Given the description of an element on the screen output the (x, y) to click on. 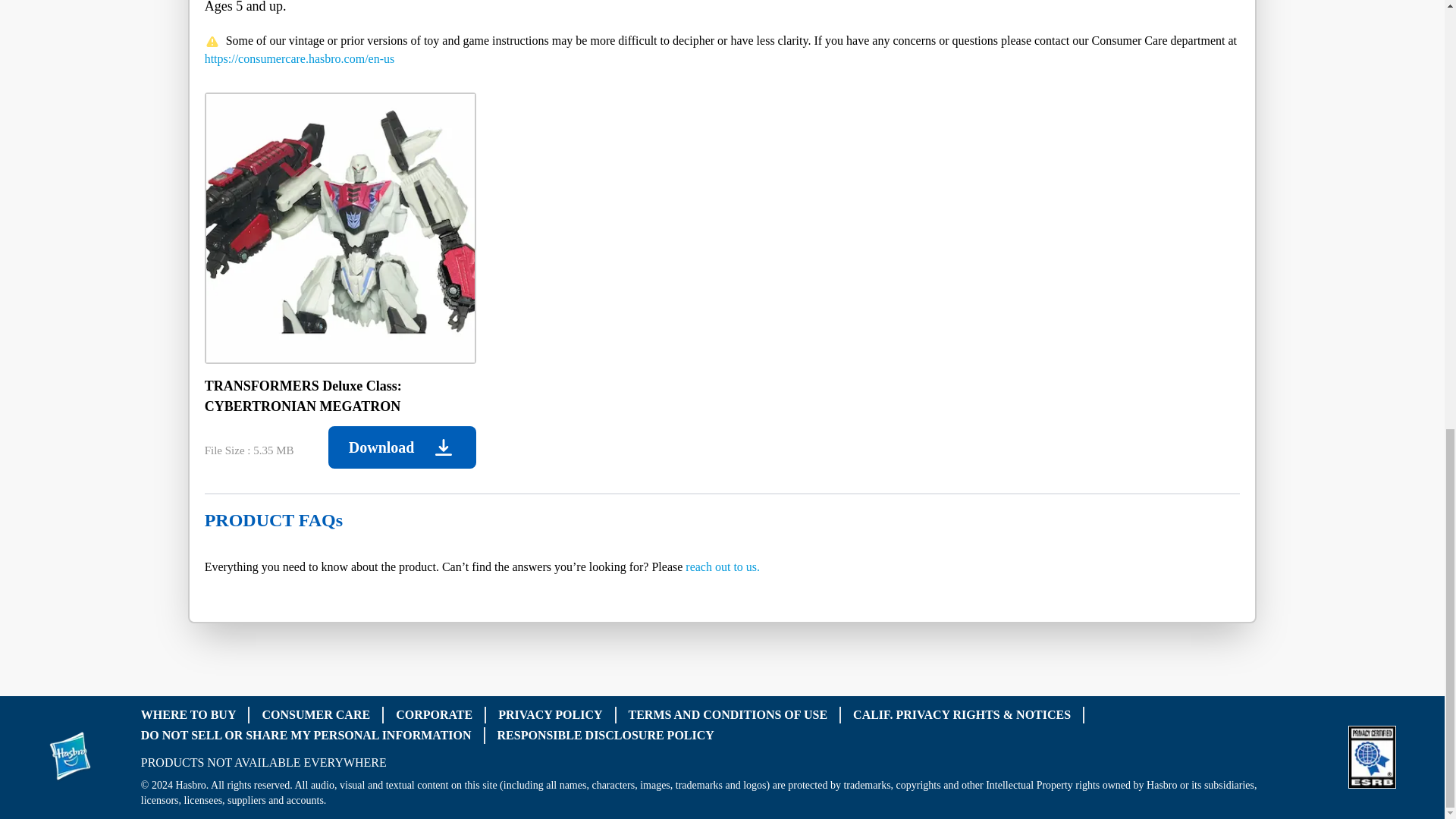
CONSUMER CARE (315, 714)
RESPONSIBLE DISCLOSURE POLICY (605, 734)
PRIVACY POLICY (549, 714)
CORPORATE (433, 714)
DO NOT SELL OR SHARE MY PERSONAL INFORMATION (306, 734)
reach out to us. (722, 566)
TERMS AND CONDITIONS OF USE (728, 714)
WHERE TO BUY (188, 714)
Download (402, 446)
